Given the description of an element on the screen output the (x, y) to click on. 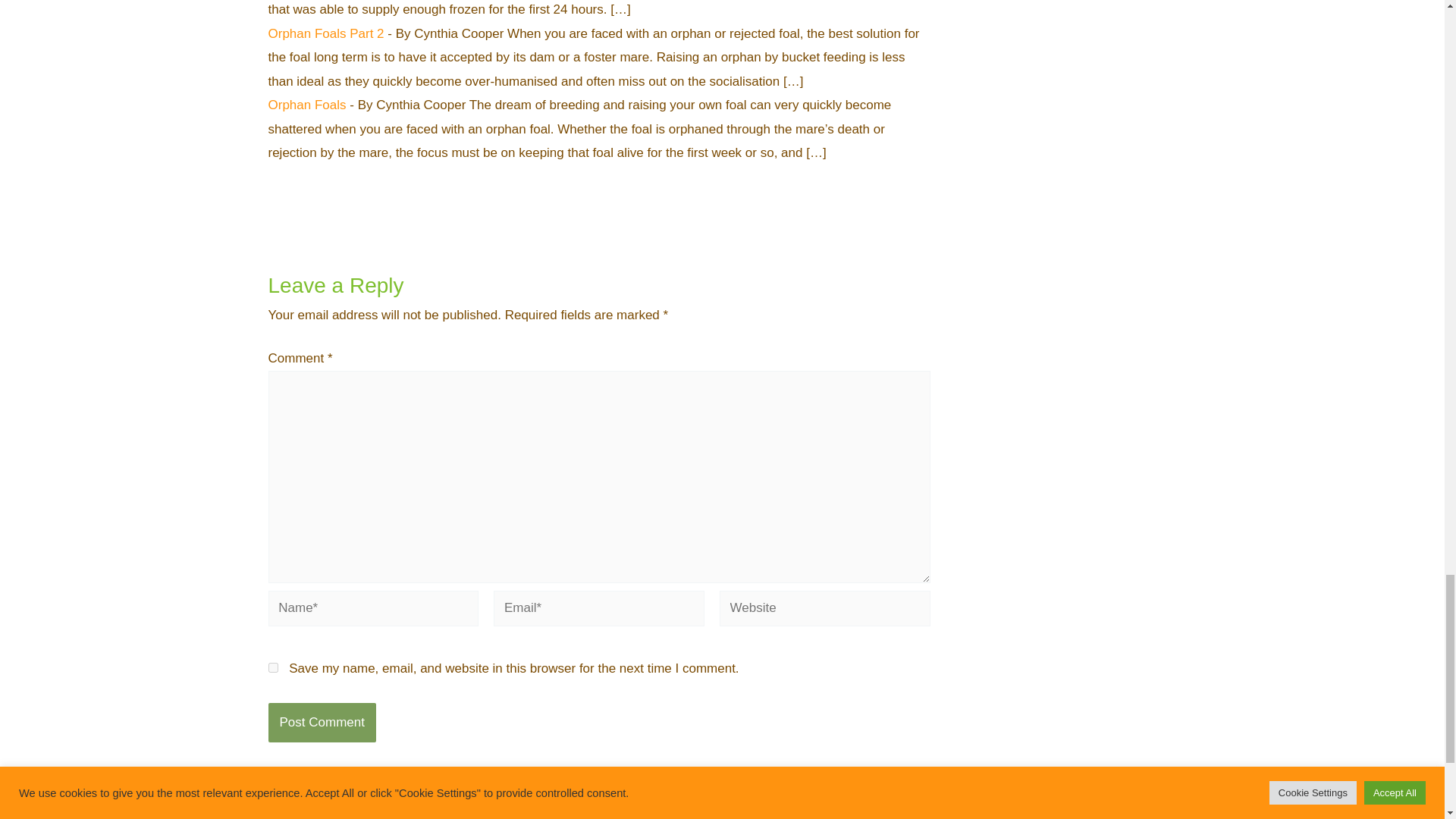
Post Comment (321, 722)
yes (272, 667)
